Given the description of an element on the screen output the (x, y) to click on. 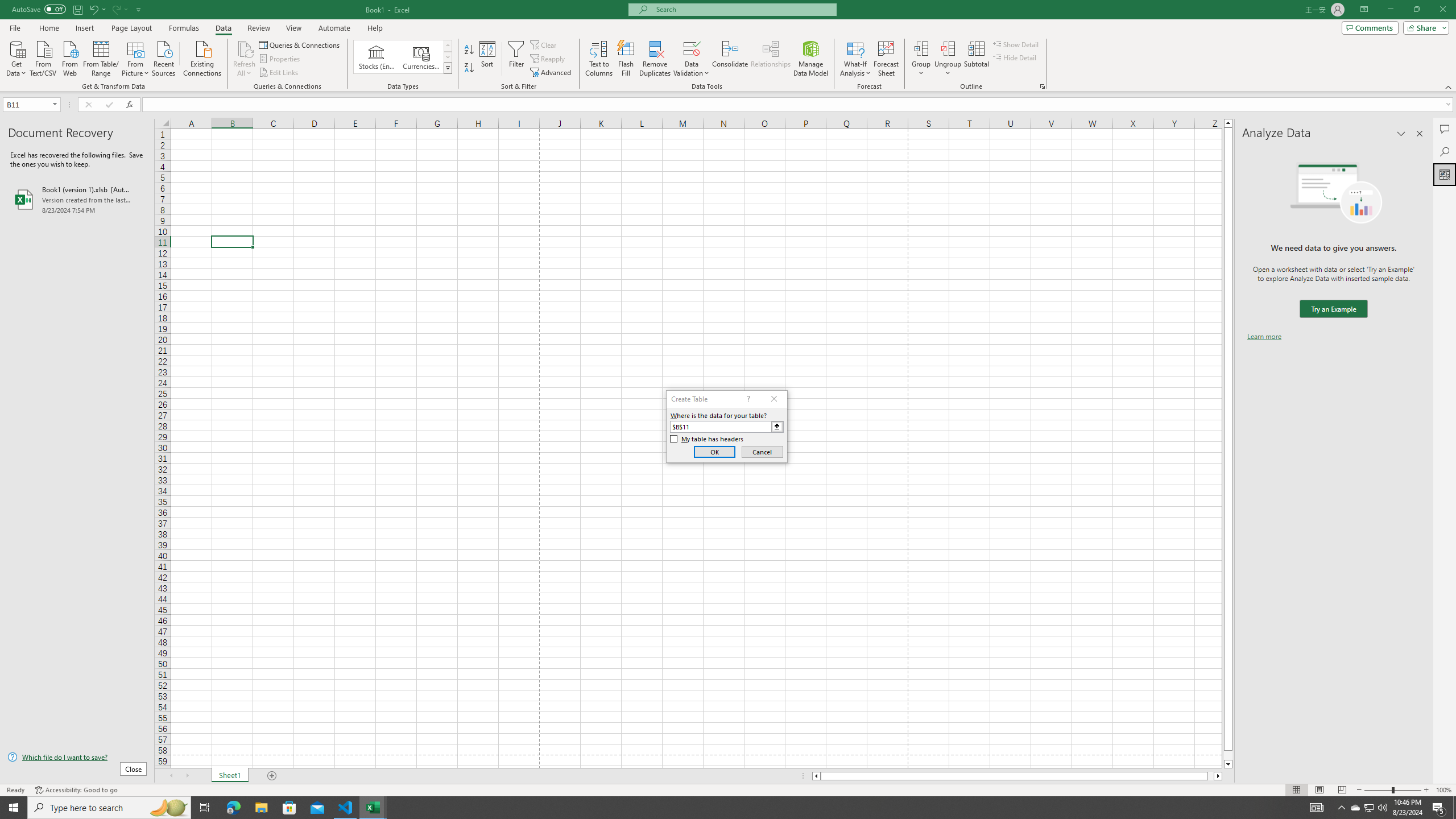
Sort A to Z (469, 49)
Group and Outline Settings (1042, 85)
Forecast Sheet (885, 58)
What-If Analysis (855, 58)
Learn more (1264, 336)
Advanced... (551, 72)
